Given the description of an element on the screen output the (x, y) to click on. 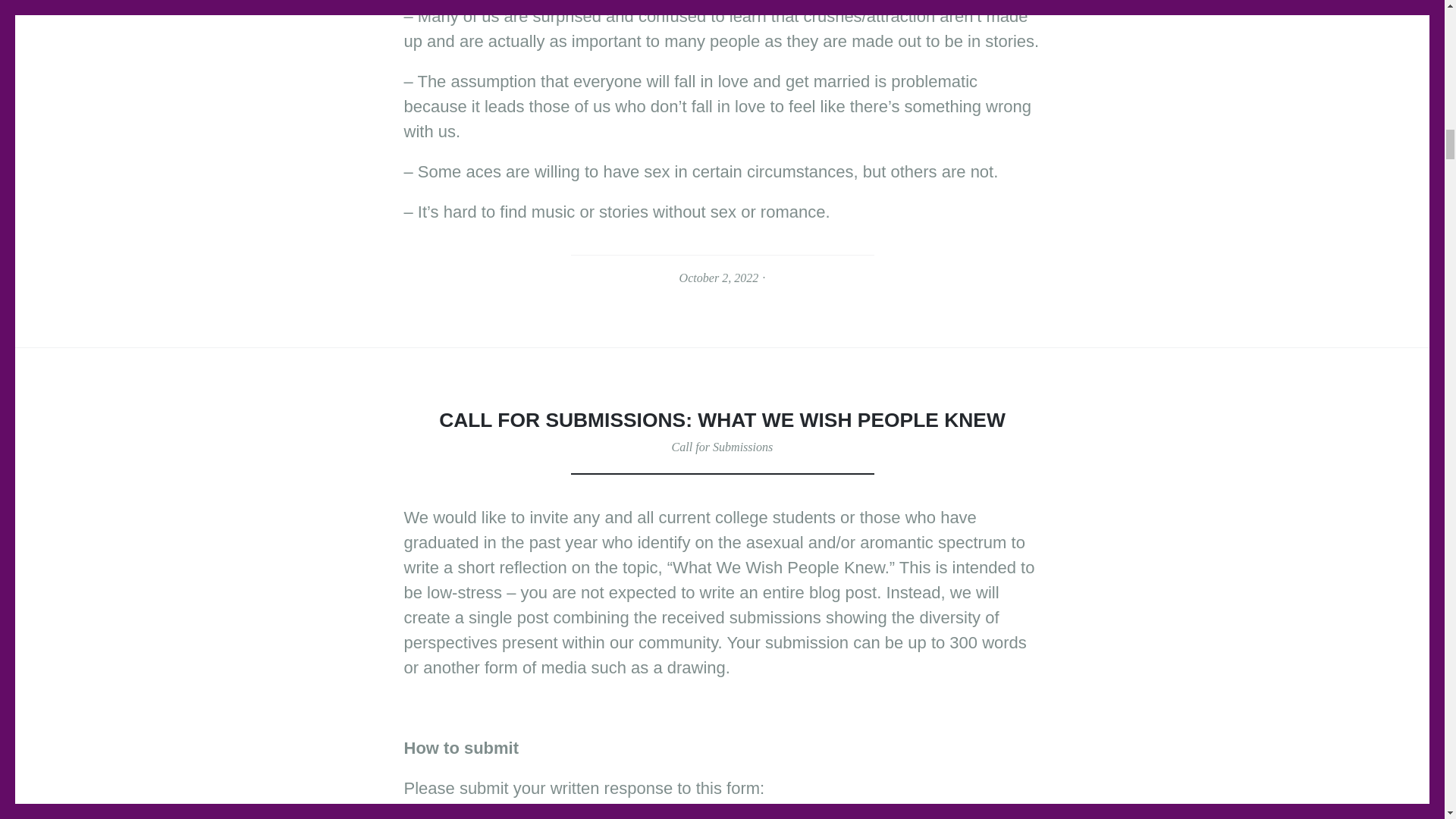
October 2, 2022 (718, 277)
CALL FOR SUBMISSIONS: WHAT WE WISH PEOPLE KNEW (722, 419)
Call for Submissions (722, 446)
